Given the description of an element on the screen output the (x, y) to click on. 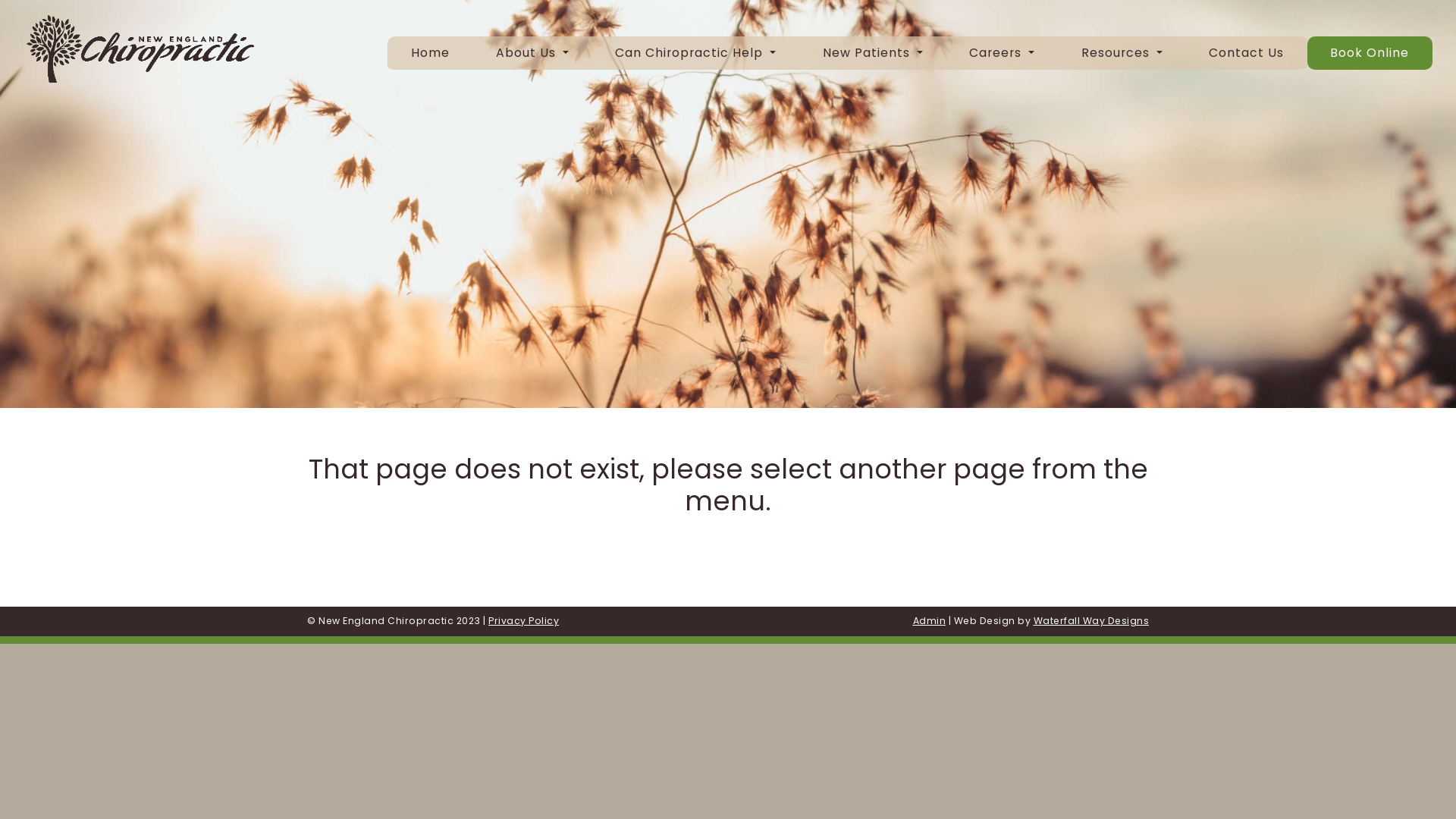
Contact Us Element type: text (1245, 52)
Book Online Element type: text (1369, 52)
Waterfall Way Designs Element type: text (1090, 620)
Admin Element type: text (929, 620)
Careers Element type: text (1001, 52)
Privacy Policy Element type: text (523, 620)
About Us Element type: text (531, 52)
New Patients Element type: text (872, 52)
Can Chiropractic Help Element type: text (695, 52)
Home Element type: text (429, 52)
Resources Element type: text (1121, 52)
